Given the description of an element on the screen output the (x, y) to click on. 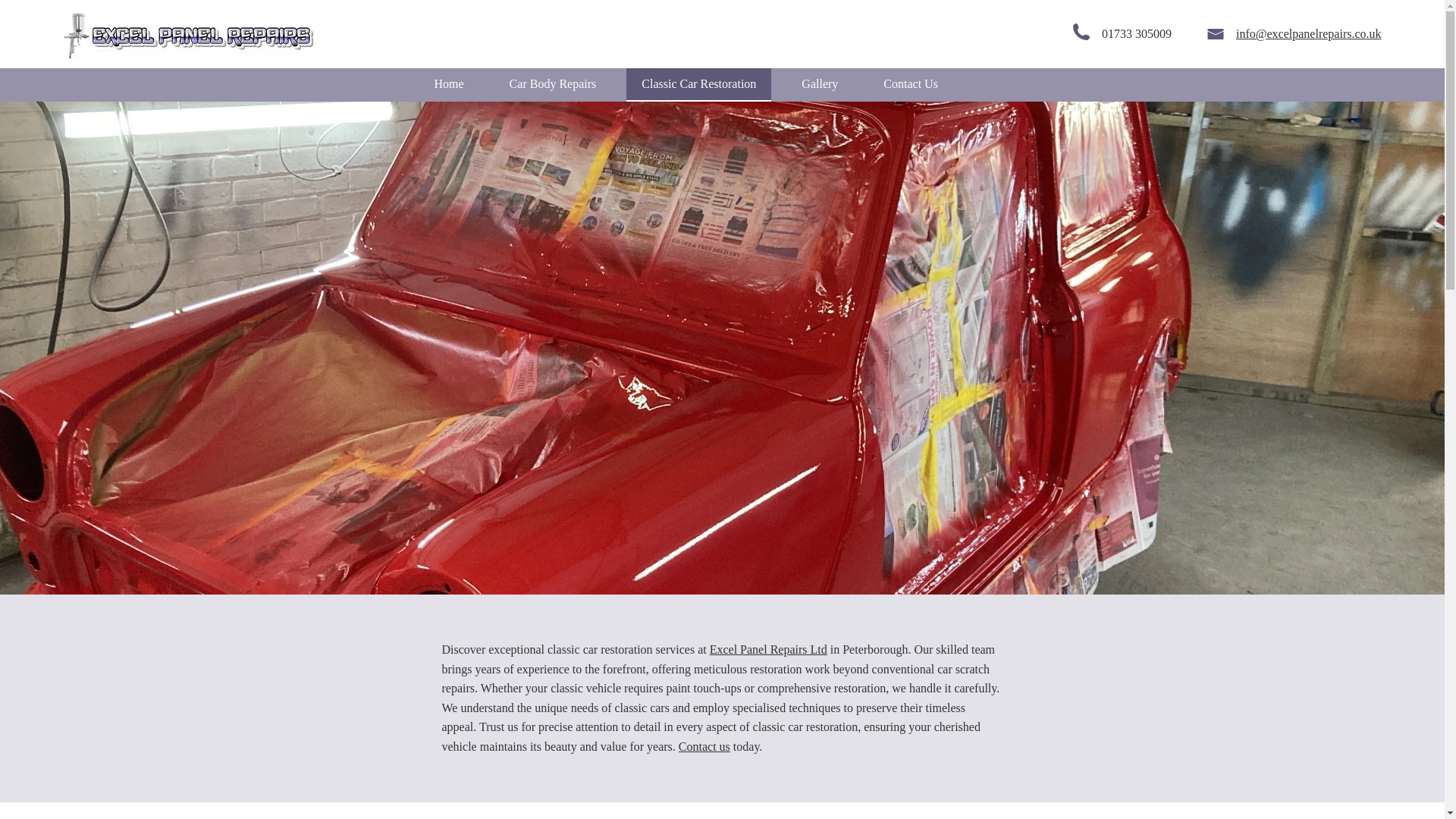
Contact us (704, 746)
Gallery (819, 84)
Car Body Repairs (553, 84)
Contact Us (910, 84)
Excel Panel Repairs Ltd (768, 649)
Classic Car Restoration (698, 84)
Home (449, 84)
